Given the description of an element on the screen output the (x, y) to click on. 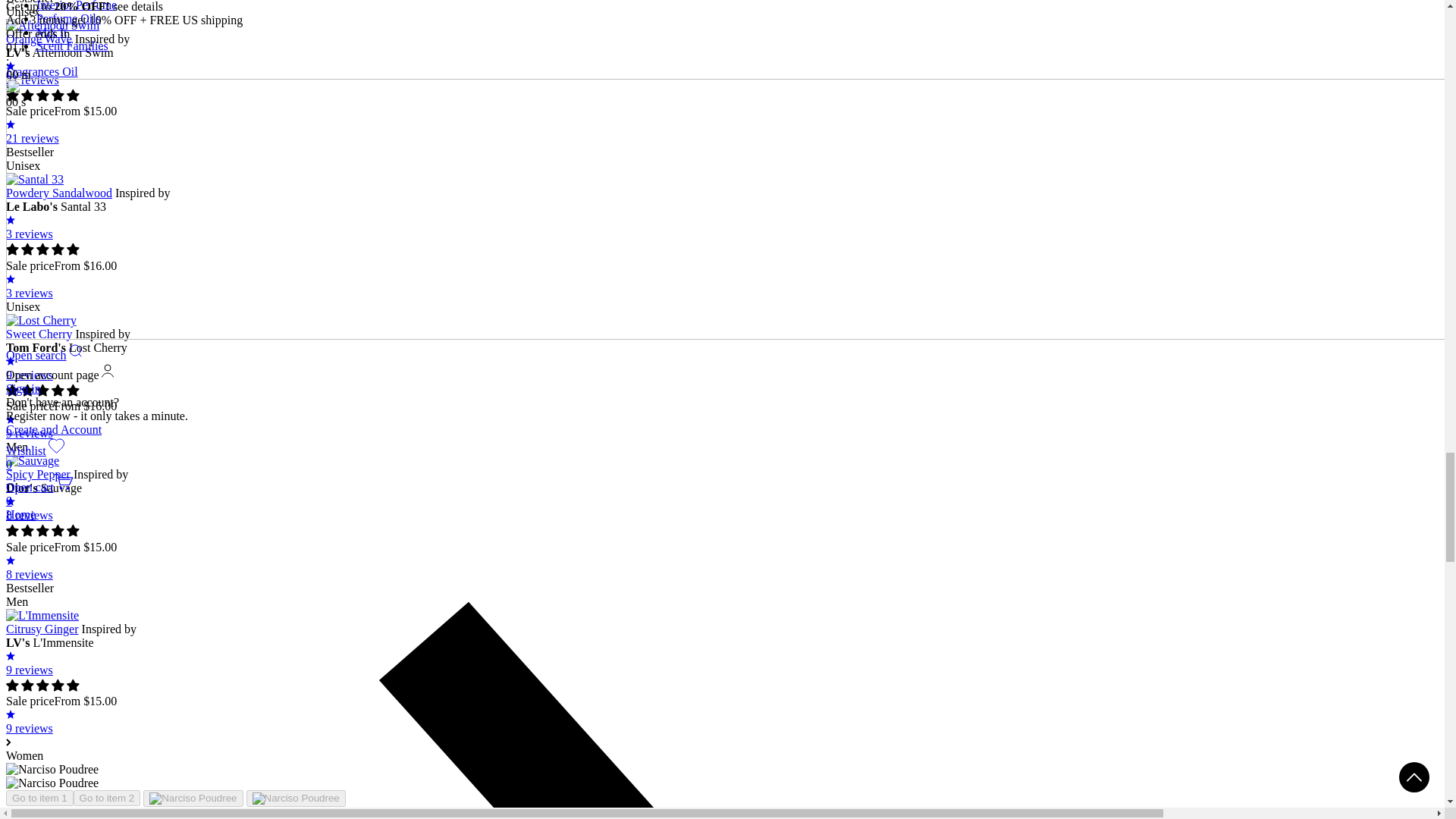
8 reviews (721, 508)
3 reviews (721, 226)
9 reviews (721, 367)
21 reviews (721, 72)
9 reviews (721, 426)
3 reviews (721, 285)
9 reviews (721, 663)
8 reviews (721, 567)
21 reviews (721, 130)
9 reviews (721, 721)
